Given the description of an element on the screen output the (x, y) to click on. 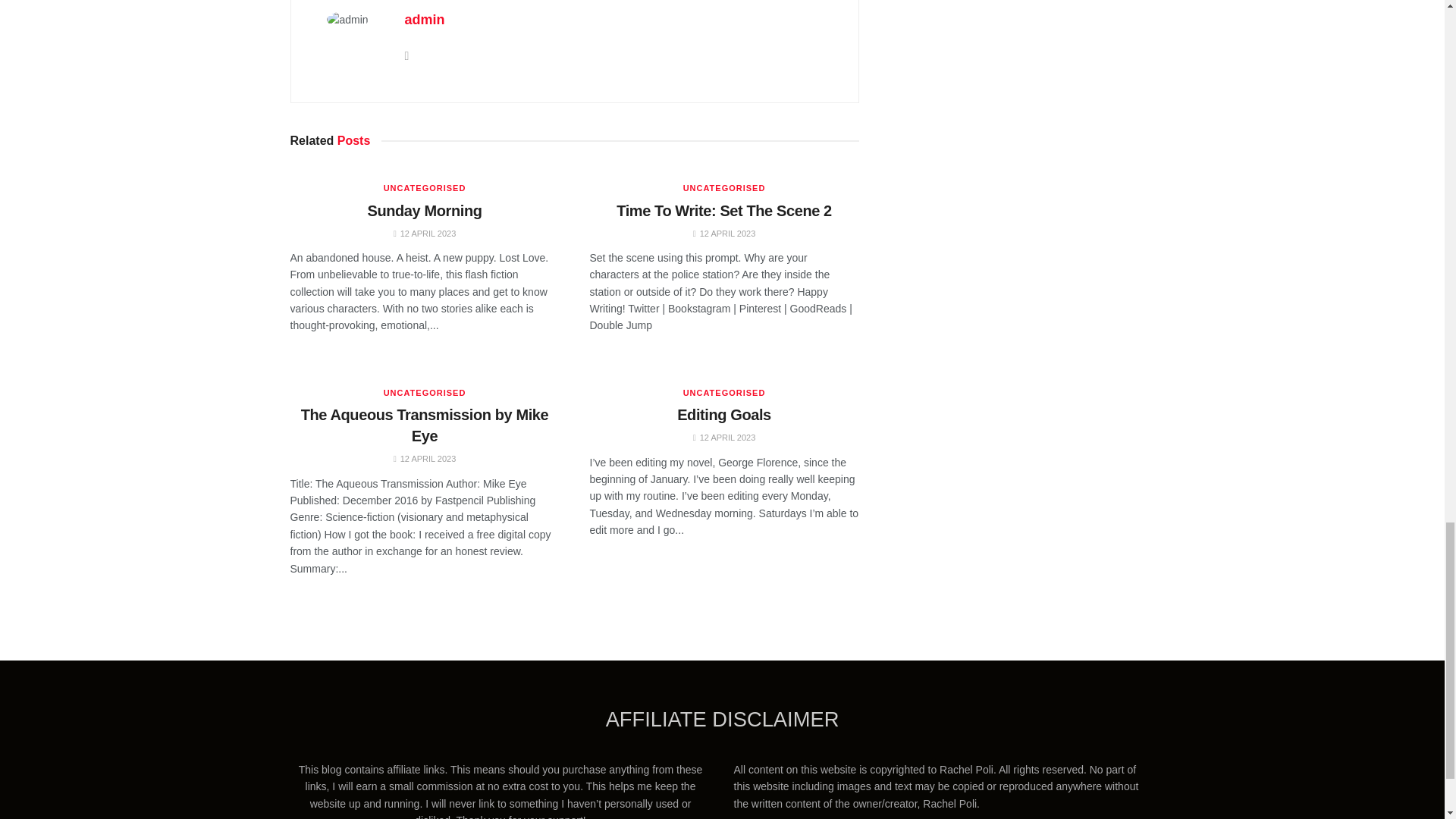
Sunday Morning (423, 209)
UNCATEGORISED (424, 188)
admin (424, 19)
